Given the description of an element on the screen output the (x, y) to click on. 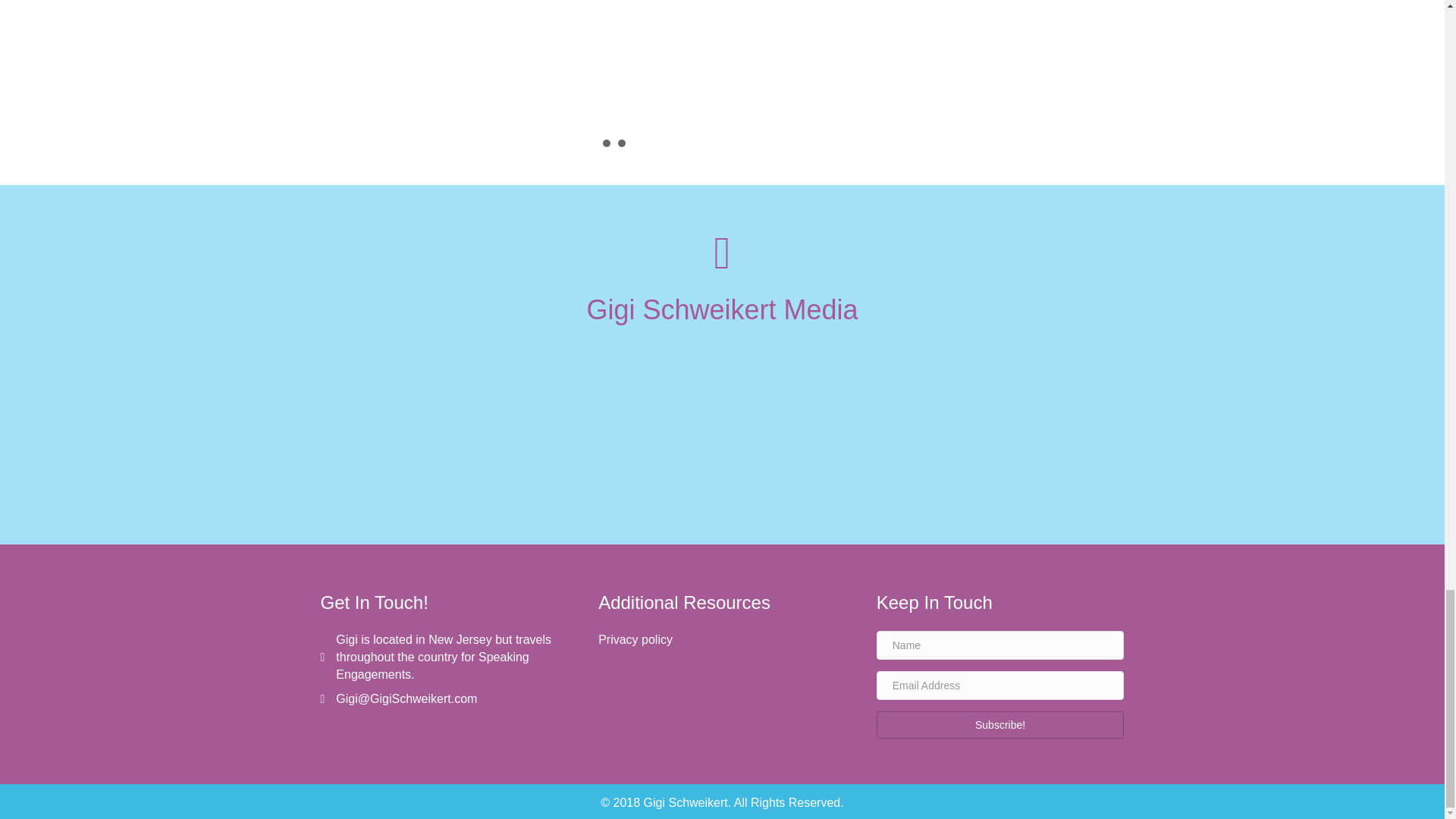
2 (620, 143)
1 (606, 143)
